Given the description of an element on the screen output the (x, y) to click on. 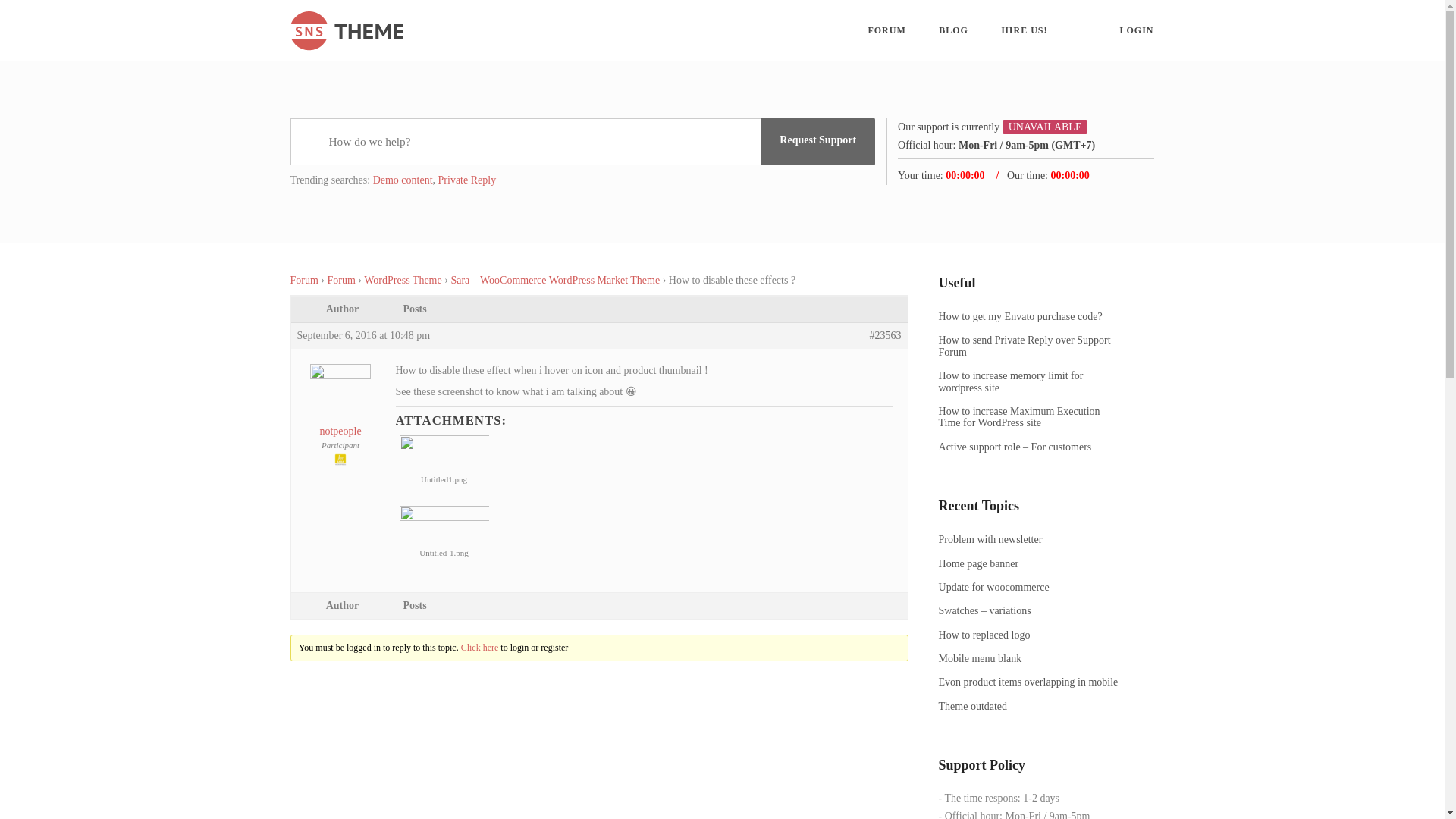
Untitled-1.png (442, 523)
how to replaced logo (1031, 634)
notpeople (340, 410)
update for woocommerce (1031, 586)
View notpeople's profile (340, 410)
Private Reply (467, 179)
mobile menu blank (1031, 658)
How to increase memory limit for wordpress site (1031, 381)
Home page banner (1031, 563)
Evon product items overlapping in mobile (1031, 681)
